Given the description of an element on the screen output the (x, y) to click on. 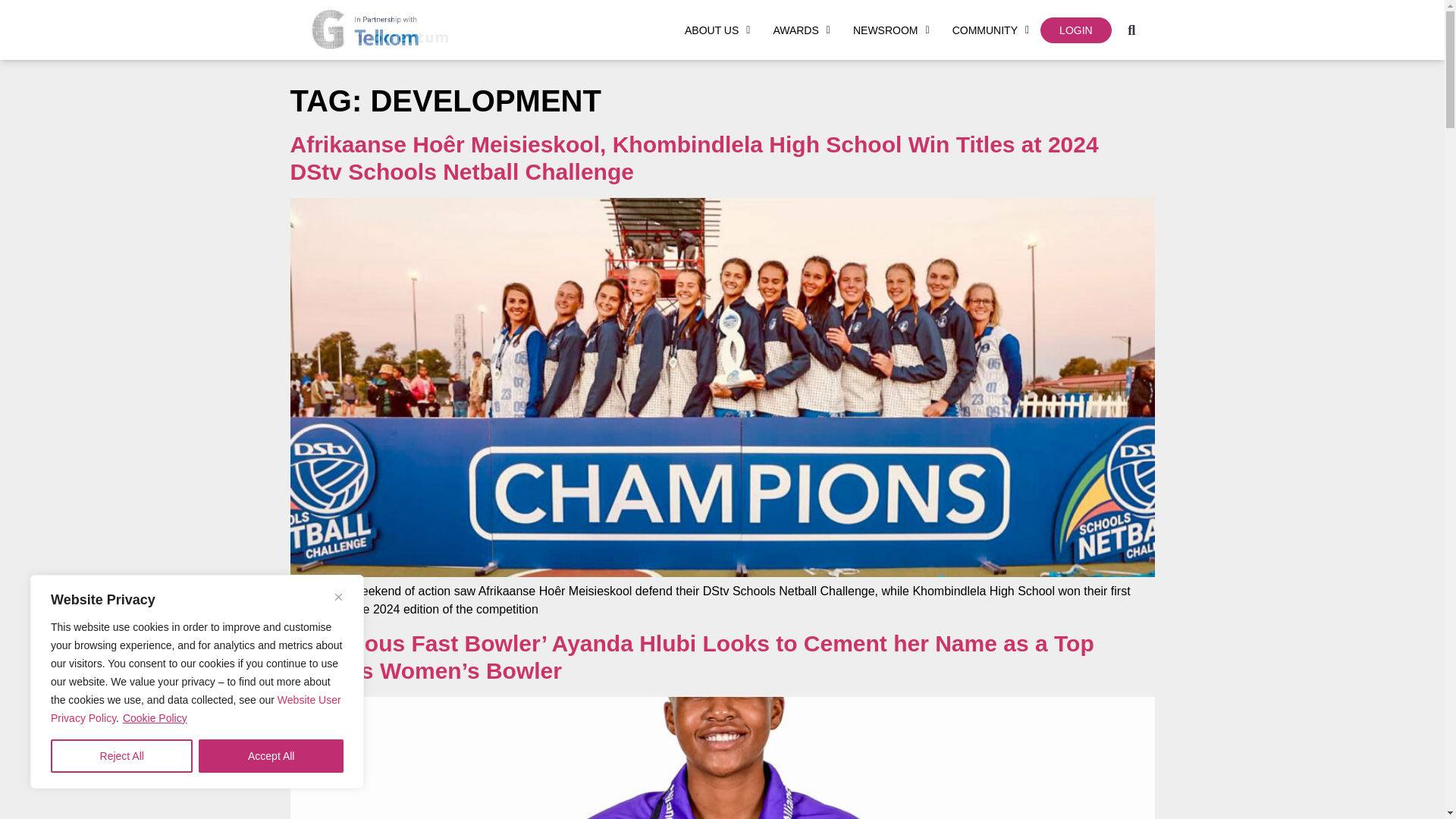
ABOUT US (716, 30)
NEWSROOM (890, 30)
Reject All (121, 756)
AWARDS (801, 30)
Accept All (270, 756)
Website User Privacy Policy (195, 708)
Cookie Policy (154, 717)
